Given the description of an element on the screen output the (x, y) to click on. 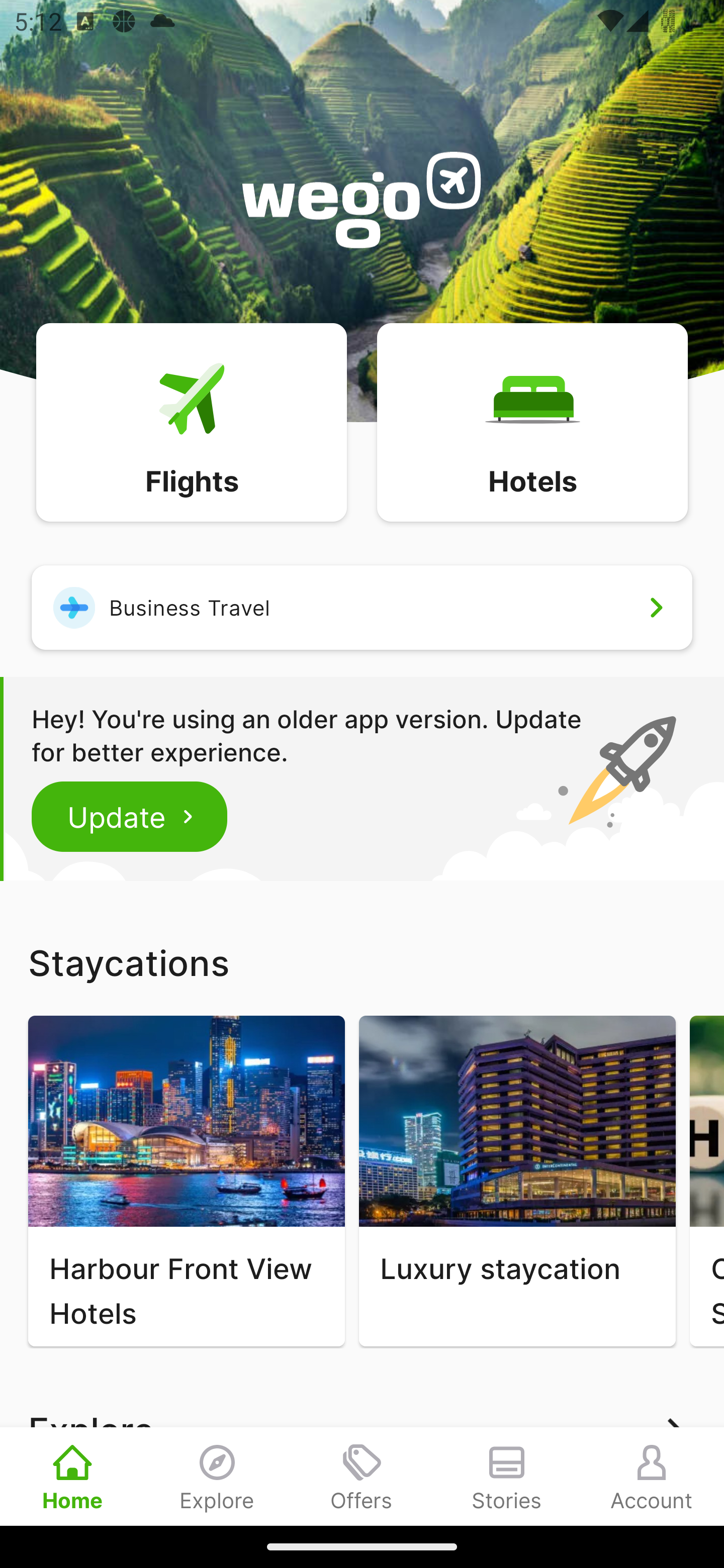
Flights (191, 420)
Hotels (532, 420)
Business Travel (361, 607)
Update (129, 815)
Staycations (362, 962)
Harbour Front View Hotels (186, 1181)
Luxury staycation (517, 1181)
Explore (216, 1475)
Offers (361, 1475)
Stories (506, 1475)
Account (651, 1475)
